Given the description of an element on the screen output the (x, y) to click on. 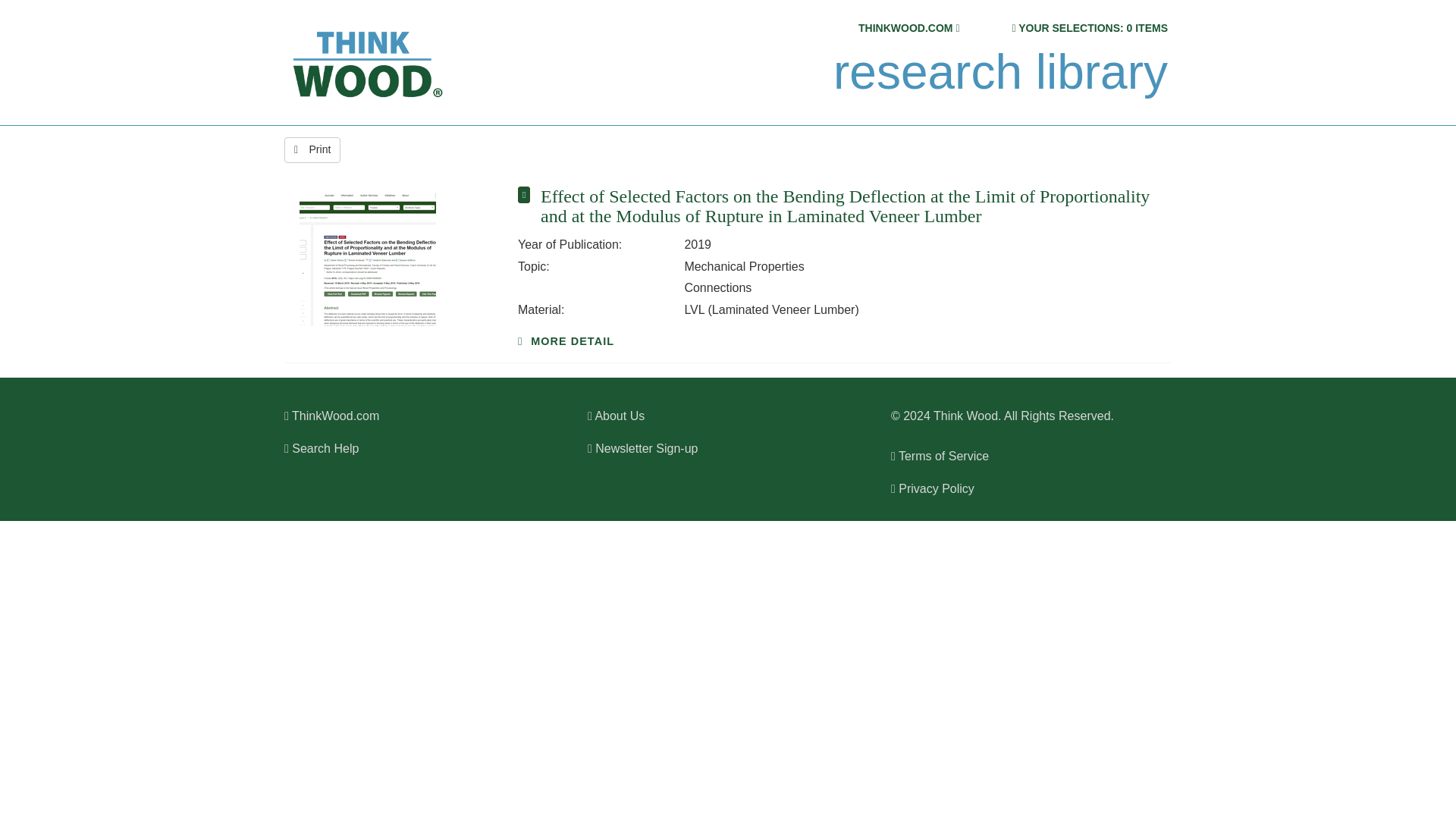
 Terms of Service (939, 455)
 ThinkWood.com (330, 415)
 About Us (616, 415)
Toggle Full Record (849, 206)
MORE DETAIL (566, 340)
 Newsletter Sign-up (642, 448)
 Privacy Policy (932, 488)
YOUR SELECTIONS: 0 ITEMS (1092, 28)
Print (311, 149)
research library (999, 72)
